Given the description of an element on the screen output the (x, y) to click on. 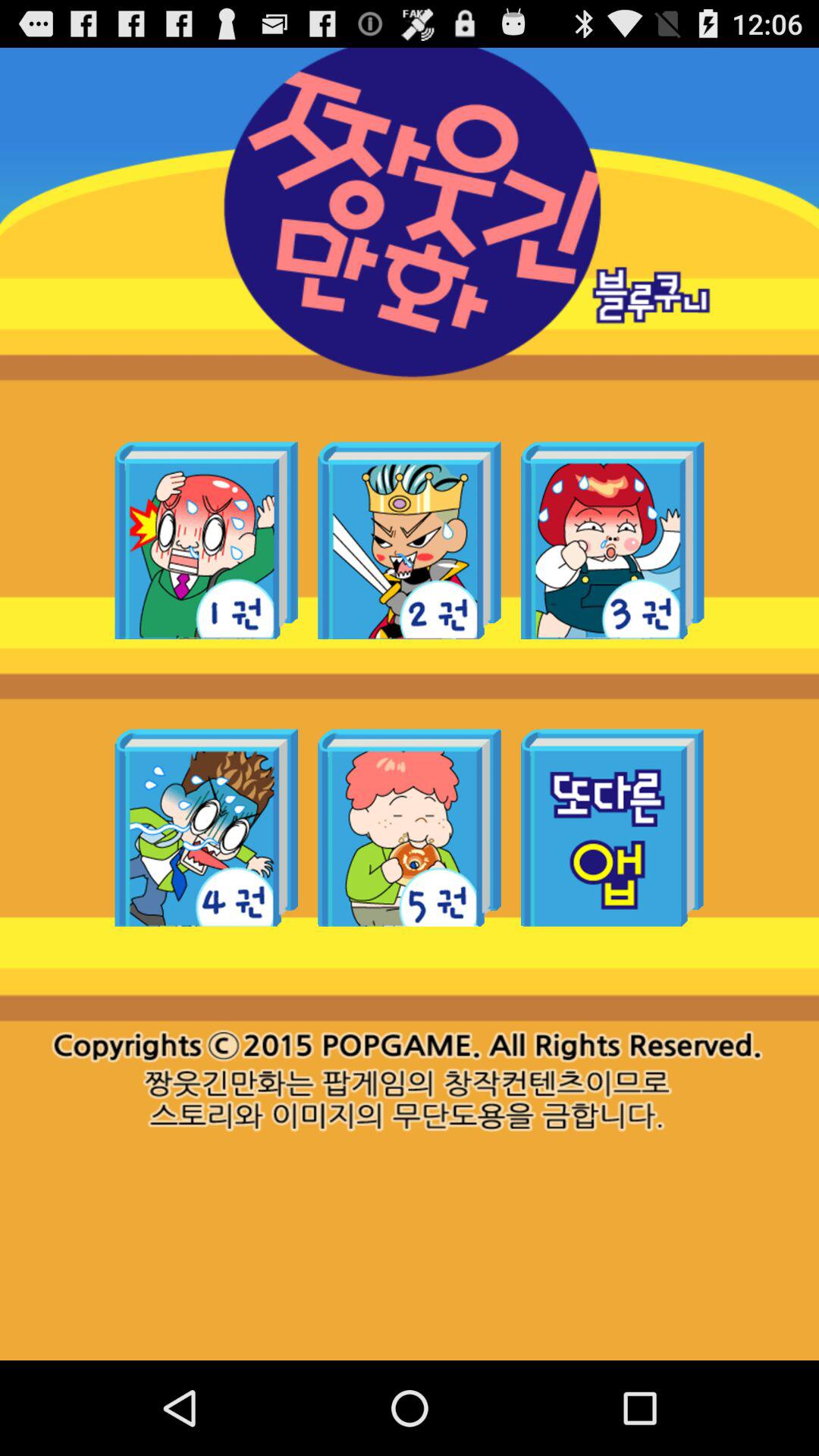
choose this particular popgame (612, 540)
